Given the description of an element on the screen output the (x, y) to click on. 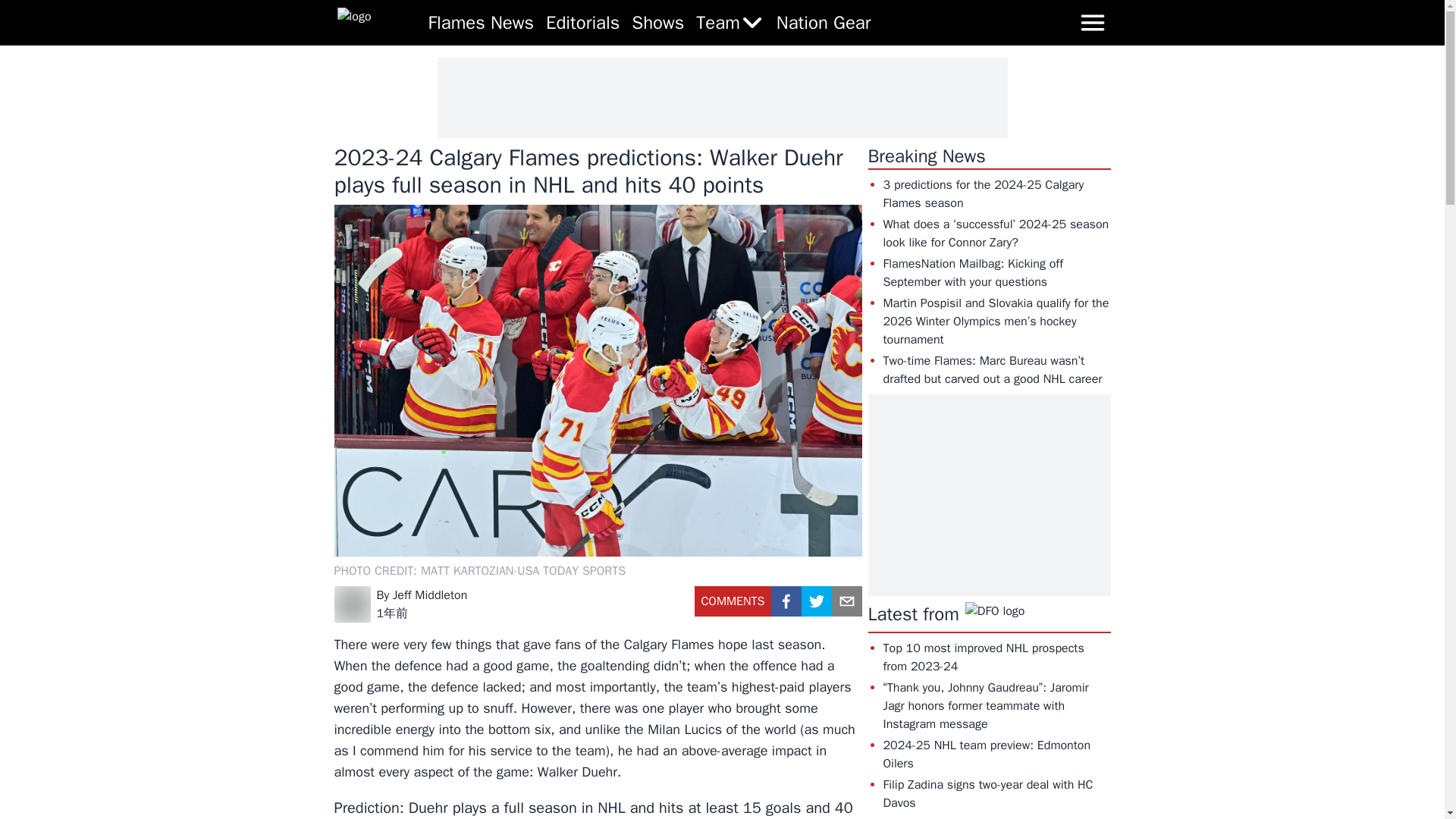
Nation Gear (823, 22)
3 predictions for the 2024-25 Calgary Flames season (982, 193)
Shows (657, 22)
COMMENTS (732, 606)
Flames News (481, 22)
Editorials (583, 22)
Jeff Middleton (430, 595)
